Given the description of an element on the screen output the (x, y) to click on. 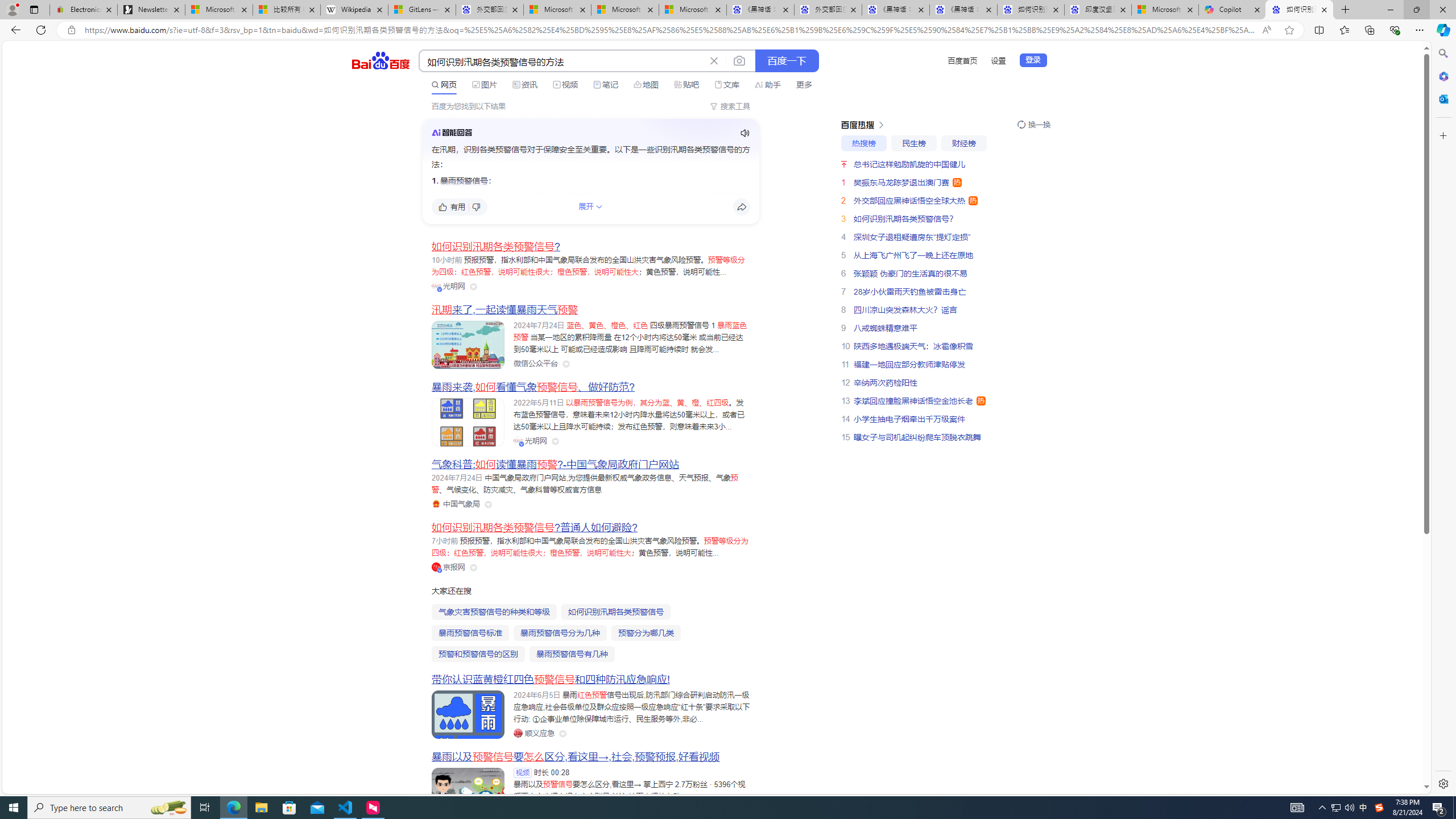
Electronics, Cars, Fashion, Collectibles & More | eBay (83, 9)
Wikipedia (354, 9)
